Given the description of an element on the screen output the (x, y) to click on. 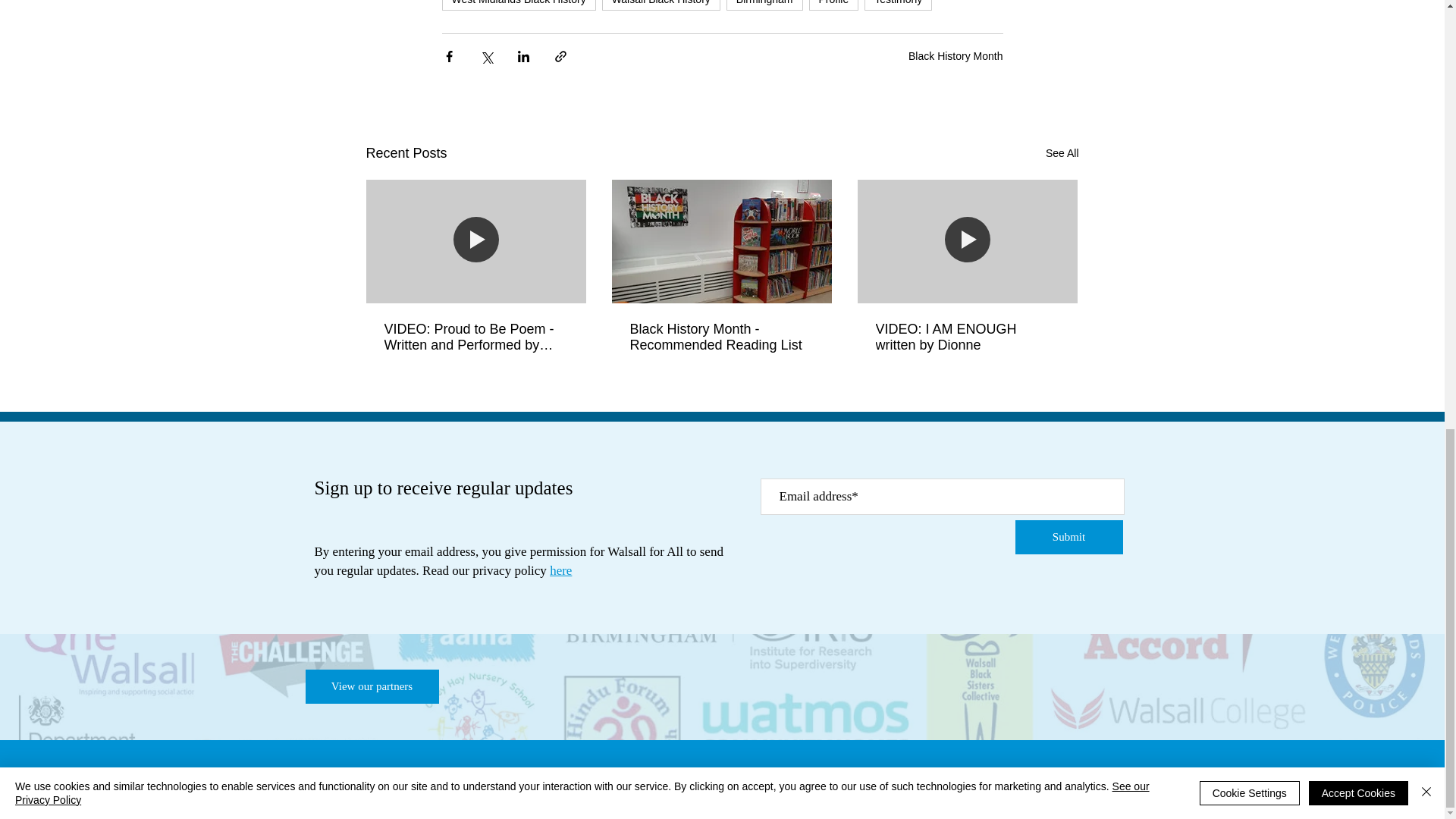
Walsall Black History (661, 4)
West Midlands Black History (518, 4)
Testimony (897, 4)
Profile (834, 4)
Birmingham (764, 4)
